Given the description of an element on the screen output the (x, y) to click on. 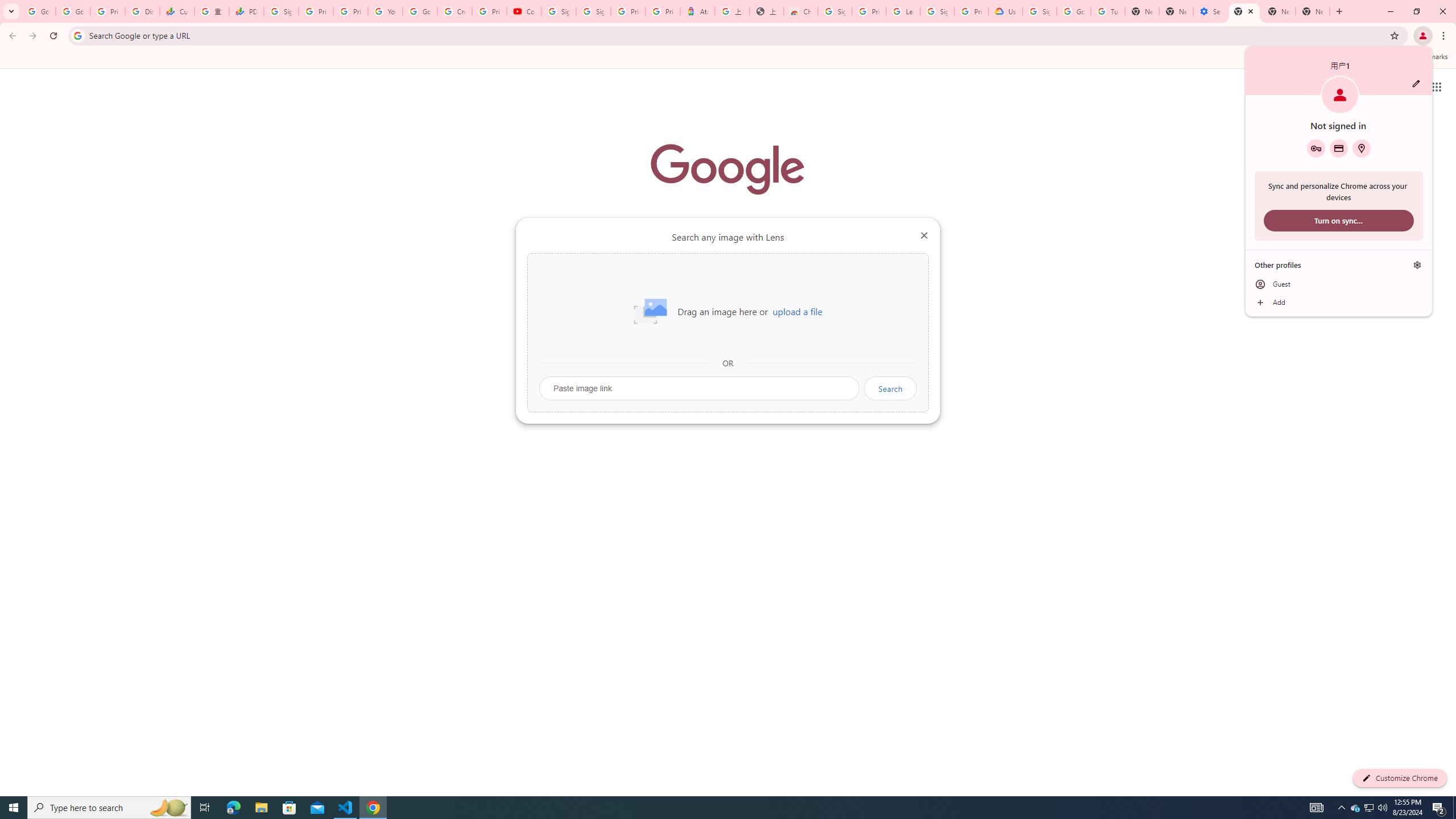
Action Center, 2 new notifications (1439, 807)
Google Workspace Admin Community (38, 11)
Microsoft Store (289, 807)
Add shortcut (727, 287)
Start (13, 807)
New Tab (1312, 11)
Sign in - Google Accounts (937, 11)
Content Creator Programs & Opportunities - YouTube Creators (524, 11)
Privacy Checkup (349, 11)
